Given the description of an element on the screen output the (x, y) to click on. 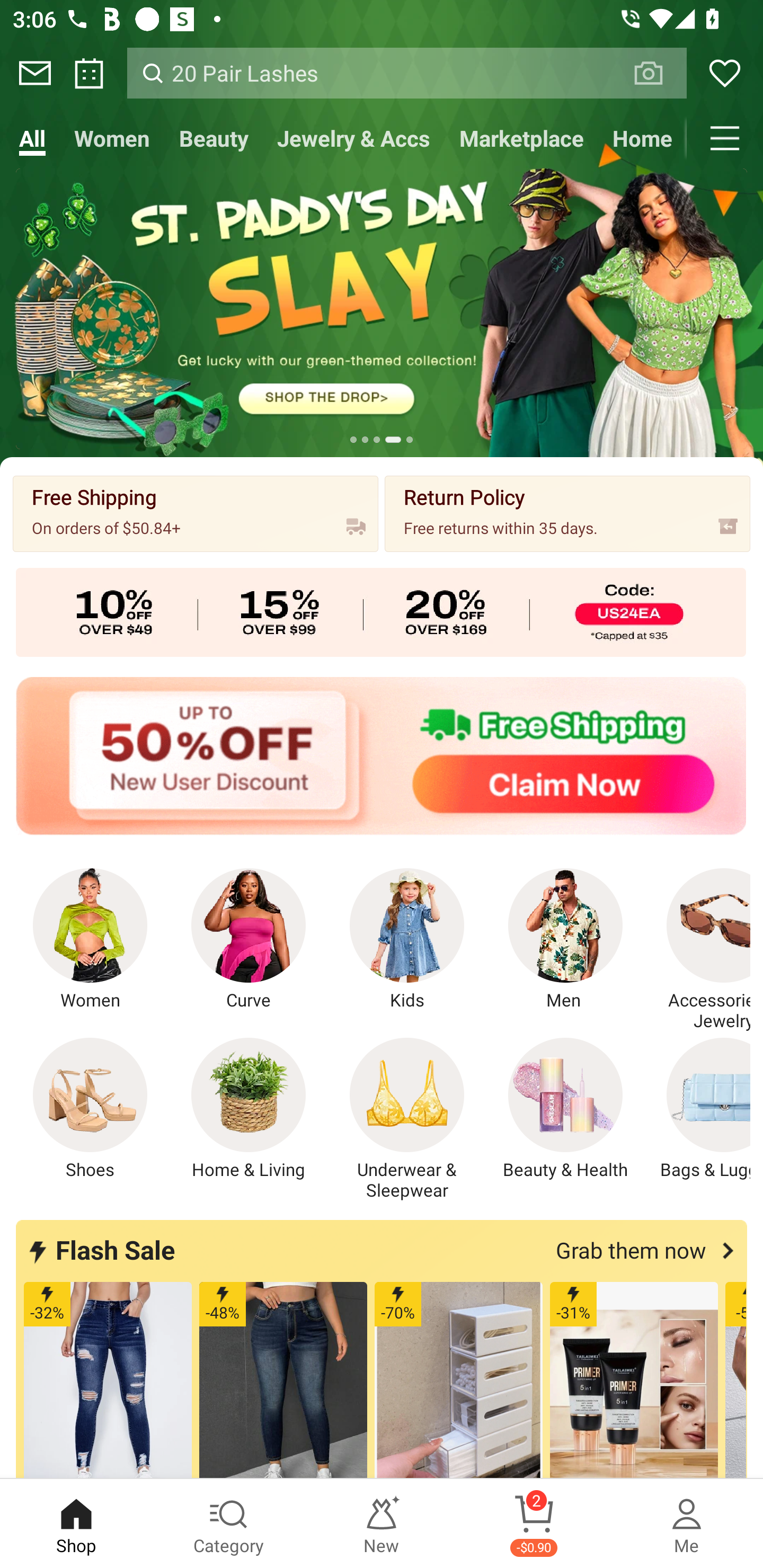
Wishlist (724, 72)
VISUAL SEARCH (657, 72)
All (31, 137)
Women (111, 137)
Beauty (213, 137)
Jewelry & Accs (353, 137)
Marketplace (521, 137)
Home (642, 137)
Free Shipping On orders of $50.84+ (195, 513)
Return Policy Free returns within 35 days. (567, 513)
Women (89, 939)
Curve (248, 939)
Kids (406, 939)
Men  (565, 939)
Accessories & Jewelry (698, 949)
Shoes (89, 1109)
Home & Living (248, 1109)
Underwear & Sleepwear (406, 1119)
Beauty & Health (565, 1109)
Bags & Luggage (698, 1109)
Category (228, 1523)
New (381, 1523)
Cart 2 -$0.90 (533, 1523)
Me (686, 1523)
